Given the description of an element on the screen output the (x, y) to click on. 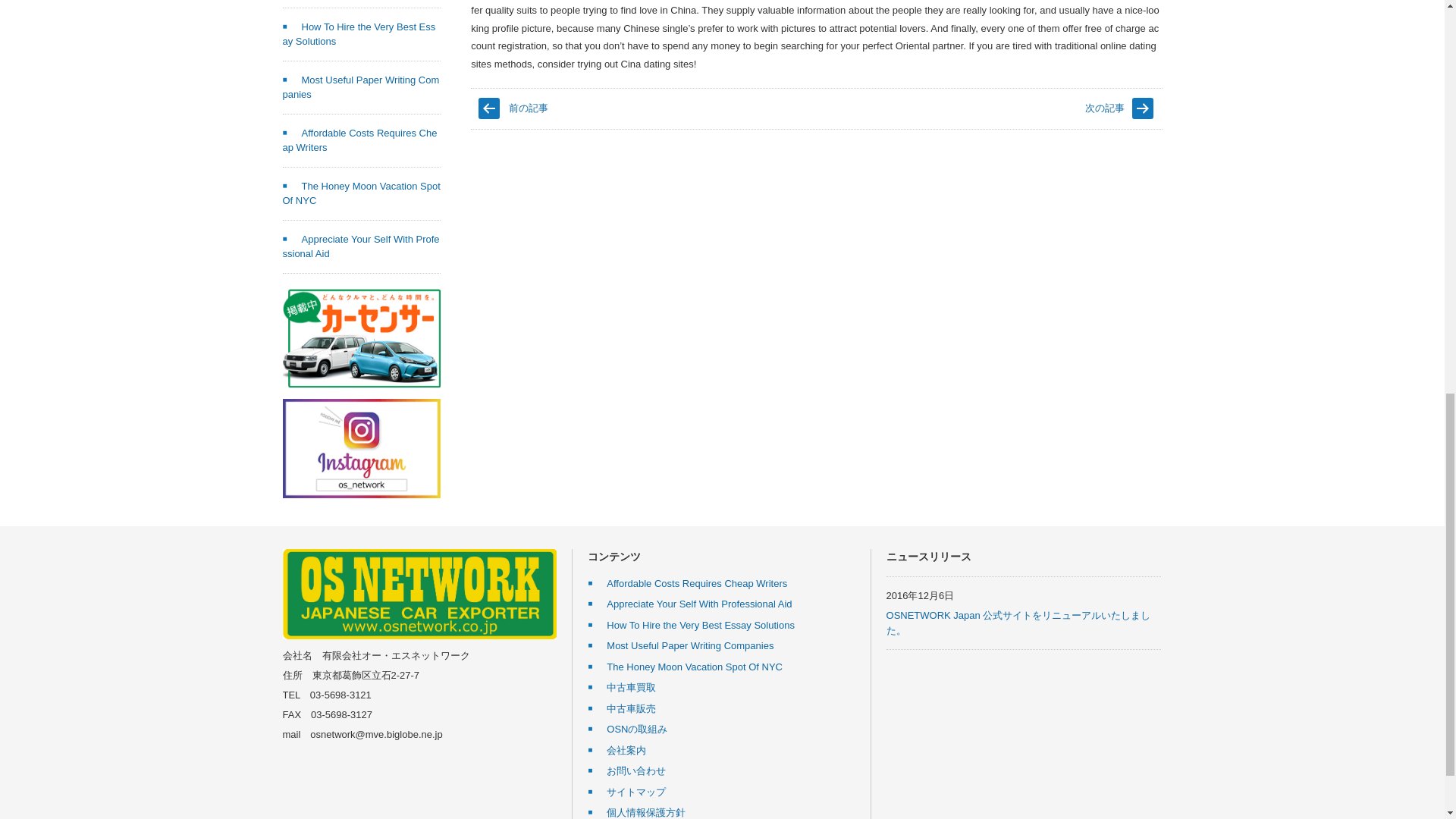
How To Hire the Very Best Essay Solutions (358, 34)
Most Useful Paper Writing Companies (360, 87)
Affordable Costs Requires Cheap Writers (687, 583)
Appreciate Your Self With Professional Aid (360, 246)
Affordable Costs Requires Cheap Writers (359, 140)
The Honey Moon Vacation Spot Of NYC (360, 193)
